Given the description of an element on the screen output the (x, y) to click on. 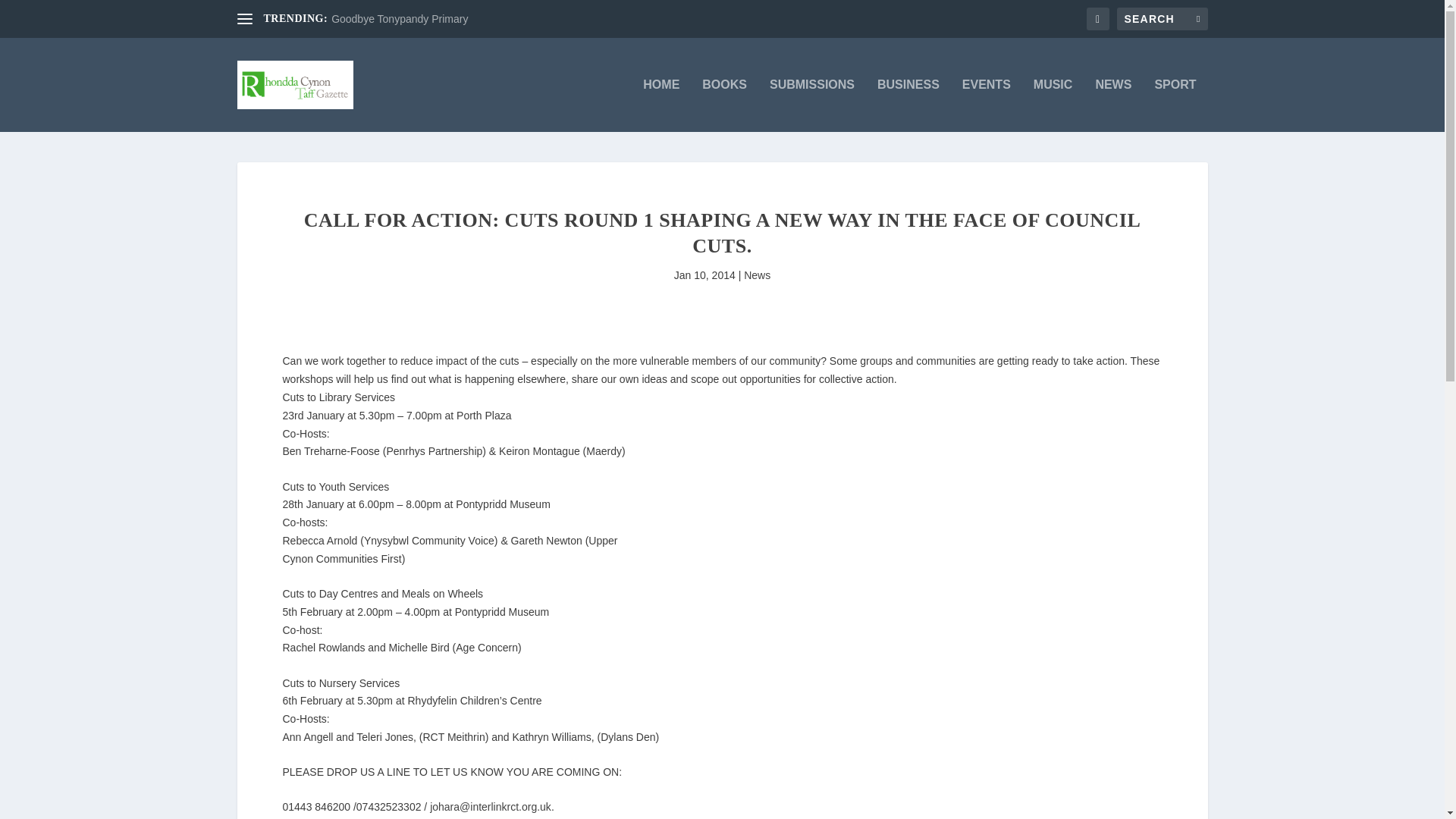
Search for: (1161, 18)
BUSINESS (908, 104)
SUBMISSIONS (812, 104)
News (757, 275)
Goodbye Tonypandy Primary (399, 19)
EVENTS (986, 104)
